Given the description of an element on the screen output the (x, y) to click on. 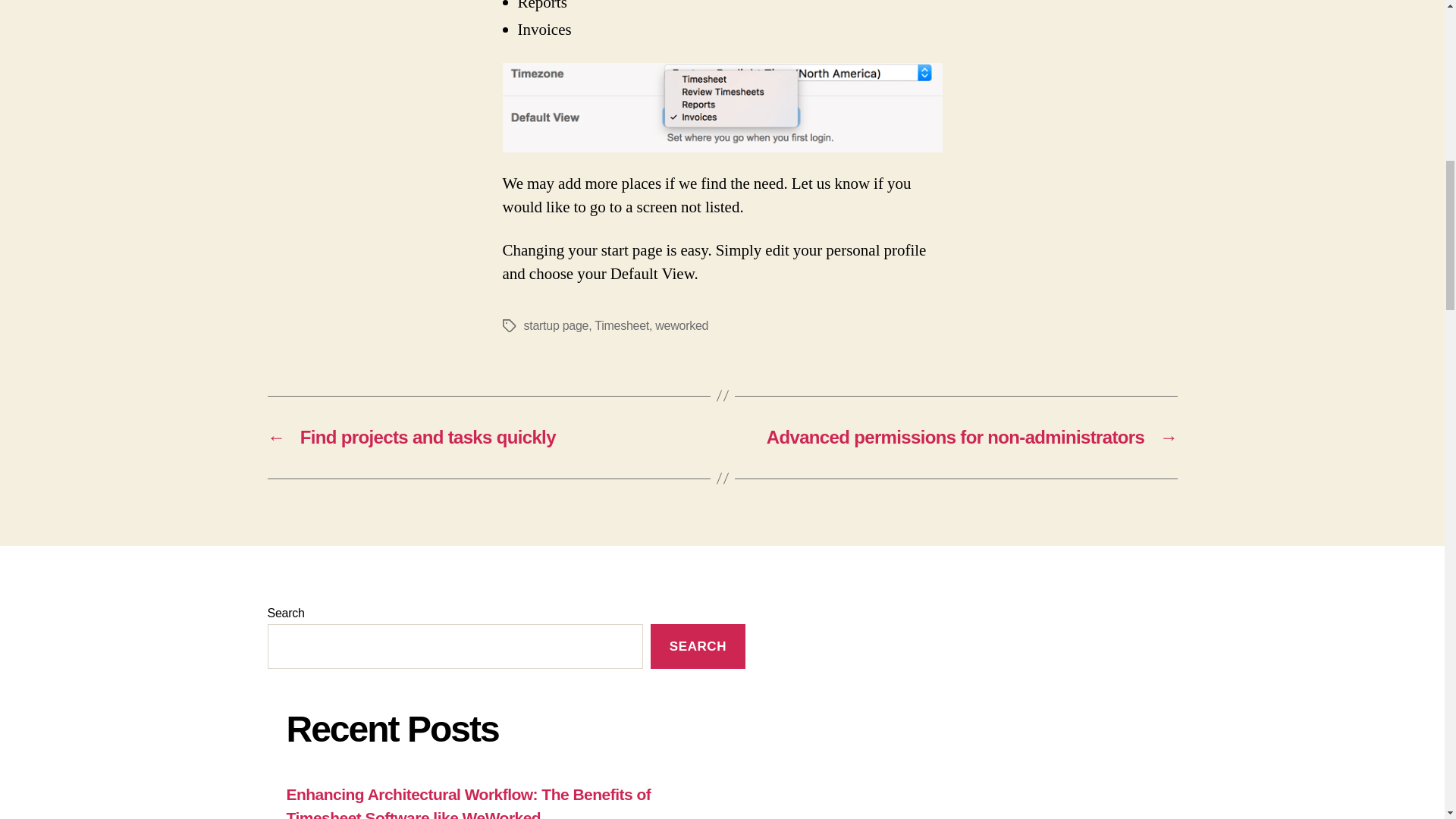
SEARCH (697, 646)
startup page (555, 325)
Timesheet (621, 325)
weworked (681, 325)
